Given the description of an element on the screen output the (x, y) to click on. 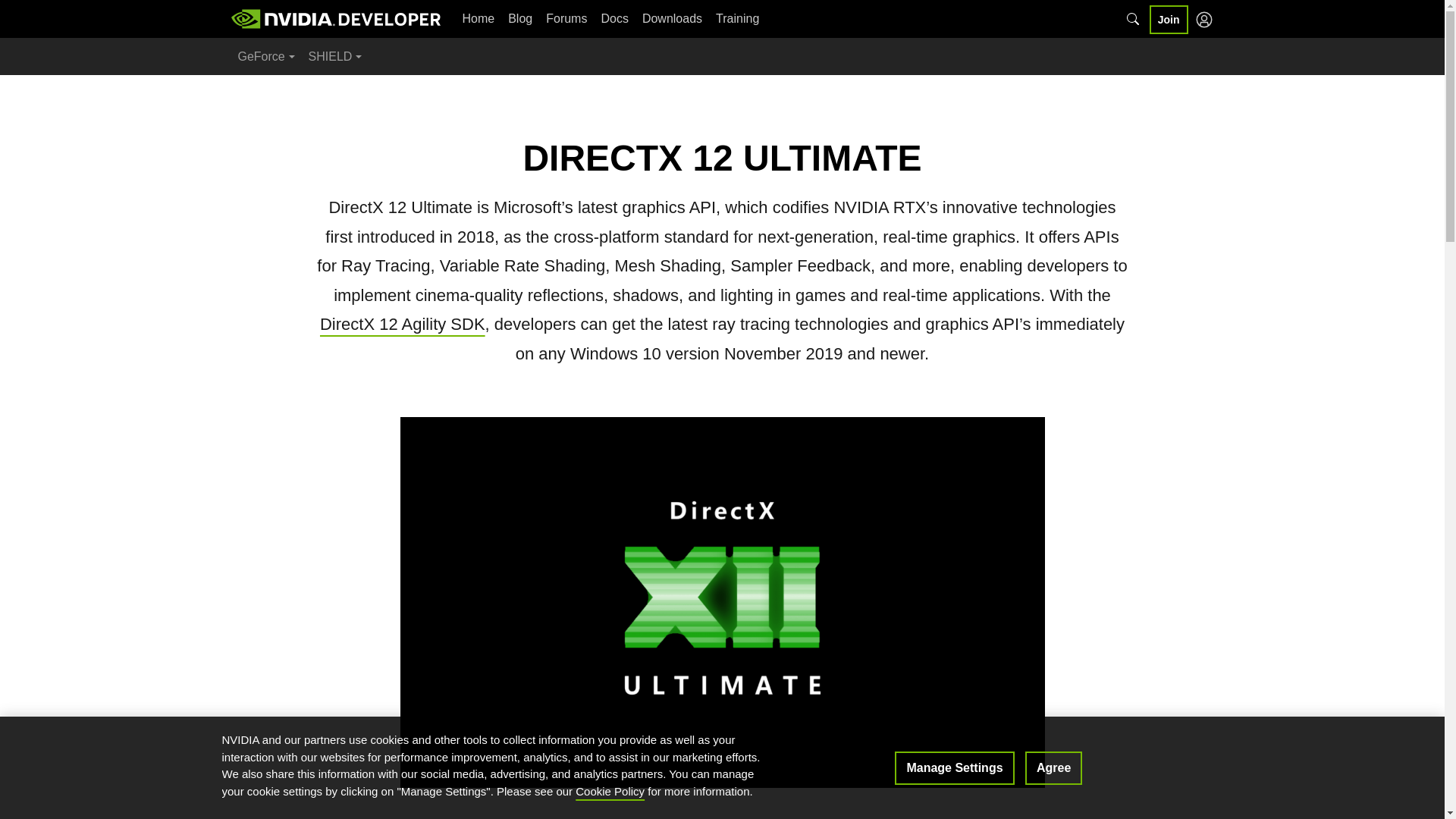
Join (1169, 18)
NVIDIA Developer (336, 18)
Docs (614, 18)
SHIELD (335, 56)
Forums (566, 18)
Downloads (671, 18)
Blog (519, 18)
GeForce (265, 56)
Training (737, 18)
DirectX 12 Agility SDK (402, 323)
Home (477, 18)
